Given the description of an element on the screen output the (x, y) to click on. 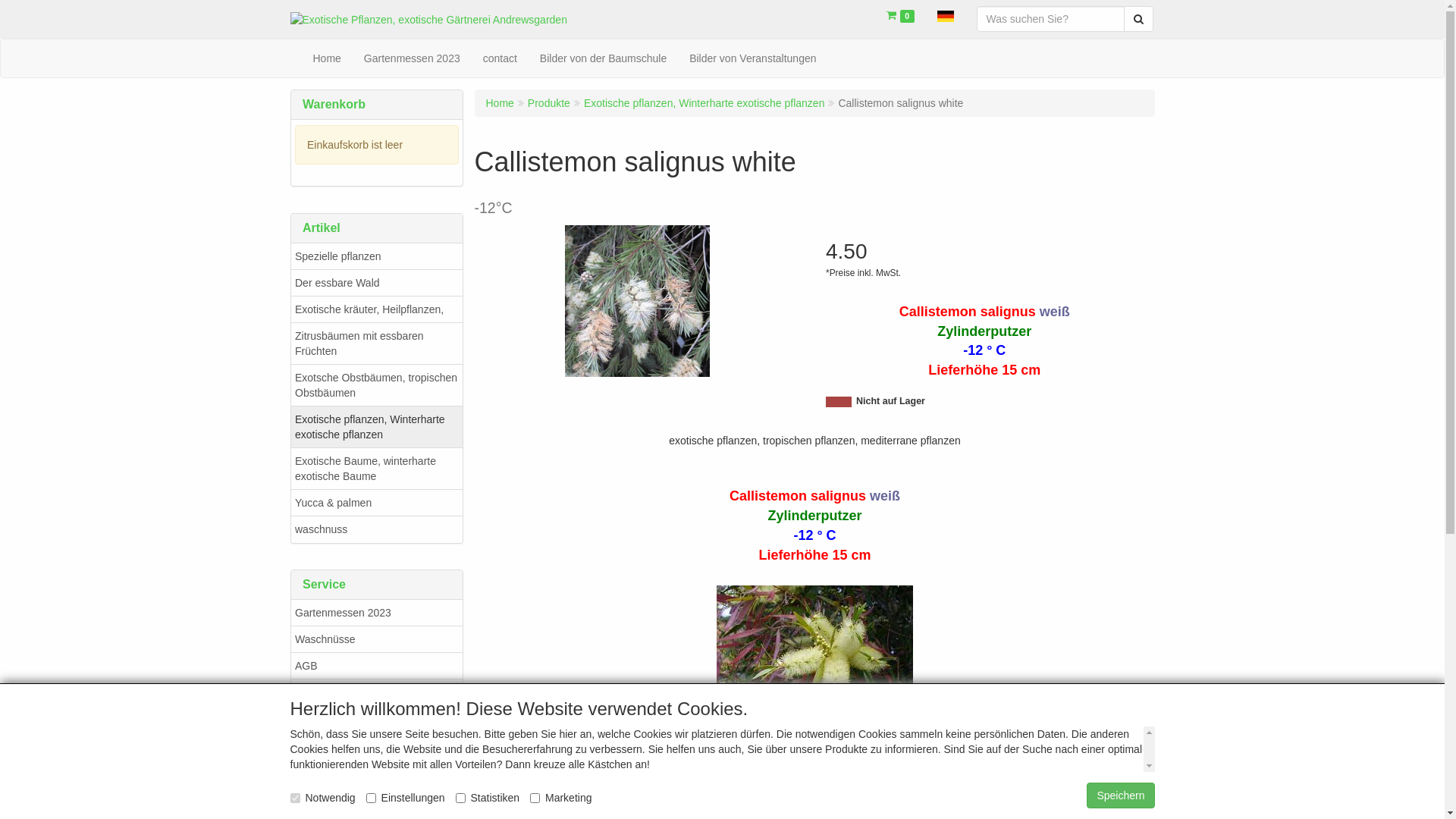
Exotische pflanzen, Winterharte exotische pflanzen Element type: text (704, 103)
contact Element type: text (376, 718)
Gartenmessen 2023 Element type: text (411, 58)
Produkte Element type: text (548, 103)
Exotische Baume, winterharte exotische Baume Element type: text (376, 467)
Gartenmessen 2023 Element type: text (376, 612)
Home Element type: text (326, 58)
Wie bestellen - info Element type: text (376, 692)
waschnuss Element type: text (376, 528)
Bilder von Veranstaltungen Element type: text (376, 771)
0 Element type: text (900, 15)
Suche Element type: text (1138, 18)
Der essbare Wald Element type: text (376, 281)
AGB Element type: text (376, 665)
contact Element type: text (499, 58)
Exotische pflanzen, Winterharte exotische pflanzen Element type: text (376, 425)
Home Element type: text (499, 103)
Speichern Element type: text (1120, 795)
Yucca & palmen Element type: text (376, 501)
Spezielle pflanzen Element type: text (376, 255)
Bilder von der Baumschule Element type: text (376, 745)
Bilder von Veranstaltungen Element type: text (752, 58)
Bilder von der Baumschule Element type: text (602, 58)
